Given the description of an element on the screen output the (x, y) to click on. 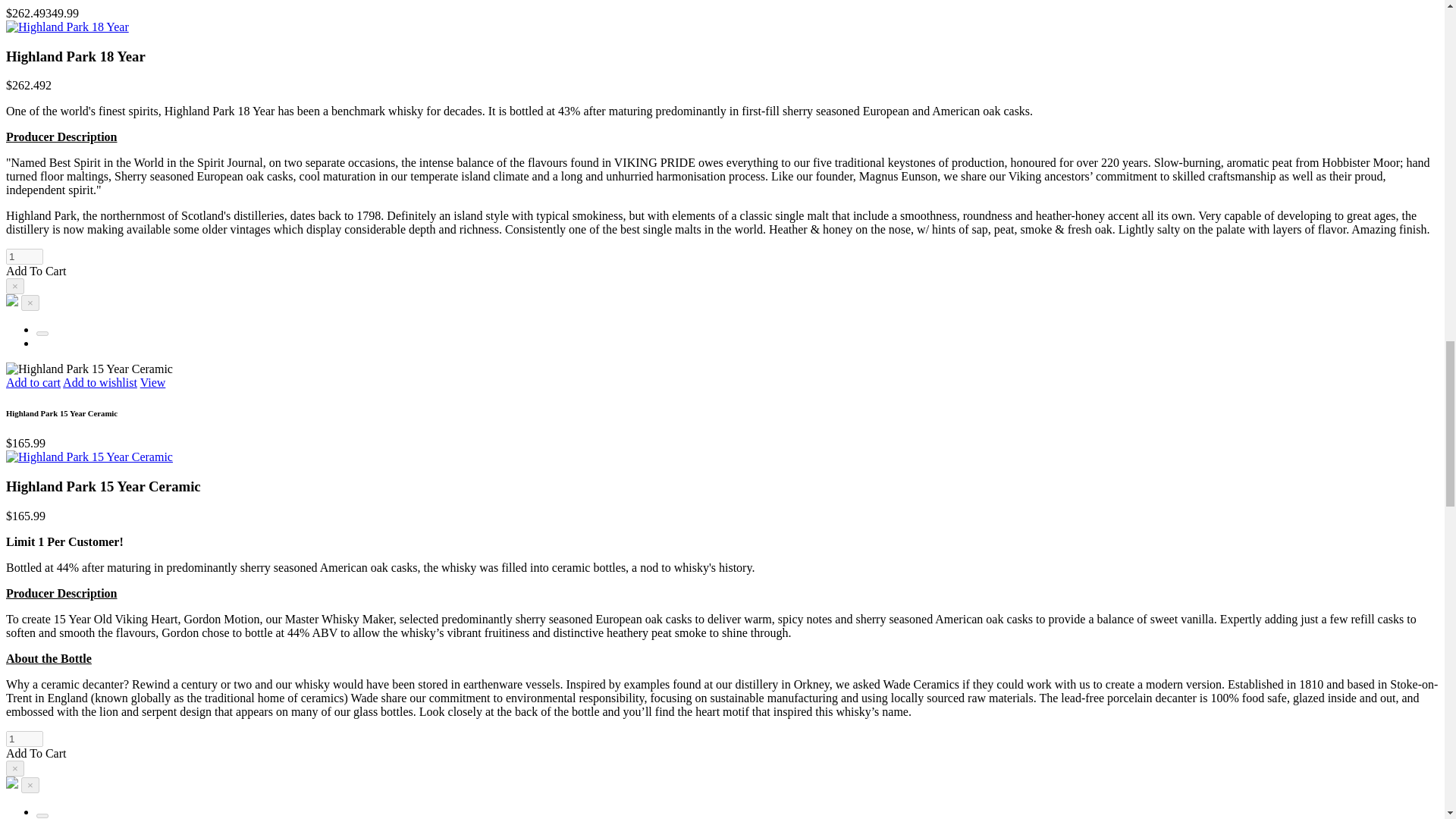
Qty (24, 256)
Peated (42, 816)
1 (24, 256)
Peated (42, 333)
1 (24, 738)
Qty (24, 738)
